Given the description of an element on the screen output the (x, y) to click on. 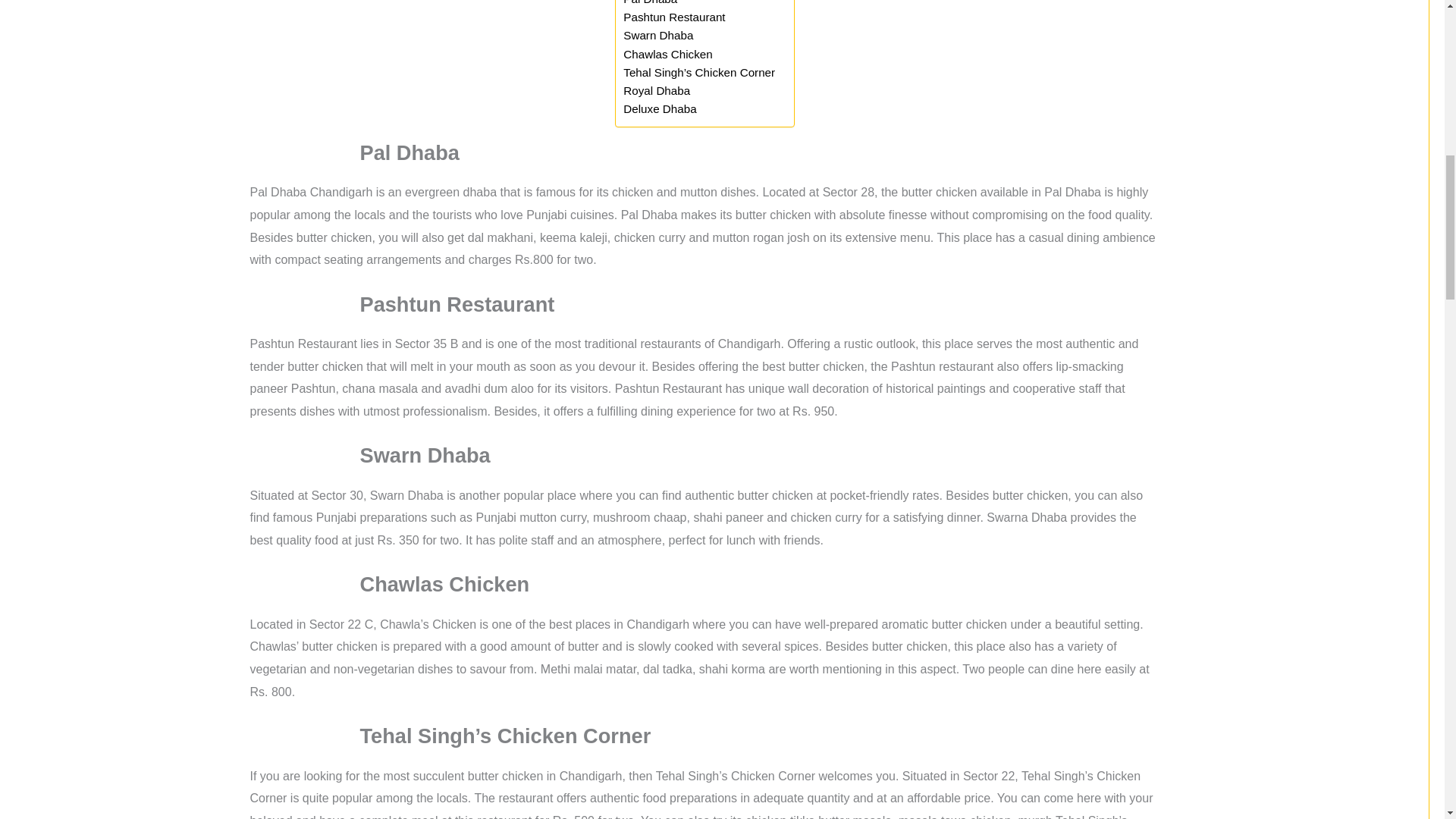
Chawlas Chicken (667, 54)
Swarn Dhaba (658, 35)
Swarn Dhaba (658, 35)
Chawlas Chicken (667, 54)
Royal Dhaba (656, 90)
Deluxe Dhaba (659, 108)
Pal Dhaba (650, 4)
Royal Dhaba (656, 90)
Pashtun Restaurant (674, 17)
Pal Dhaba (650, 4)
